Given the description of an element on the screen output the (x, y) to click on. 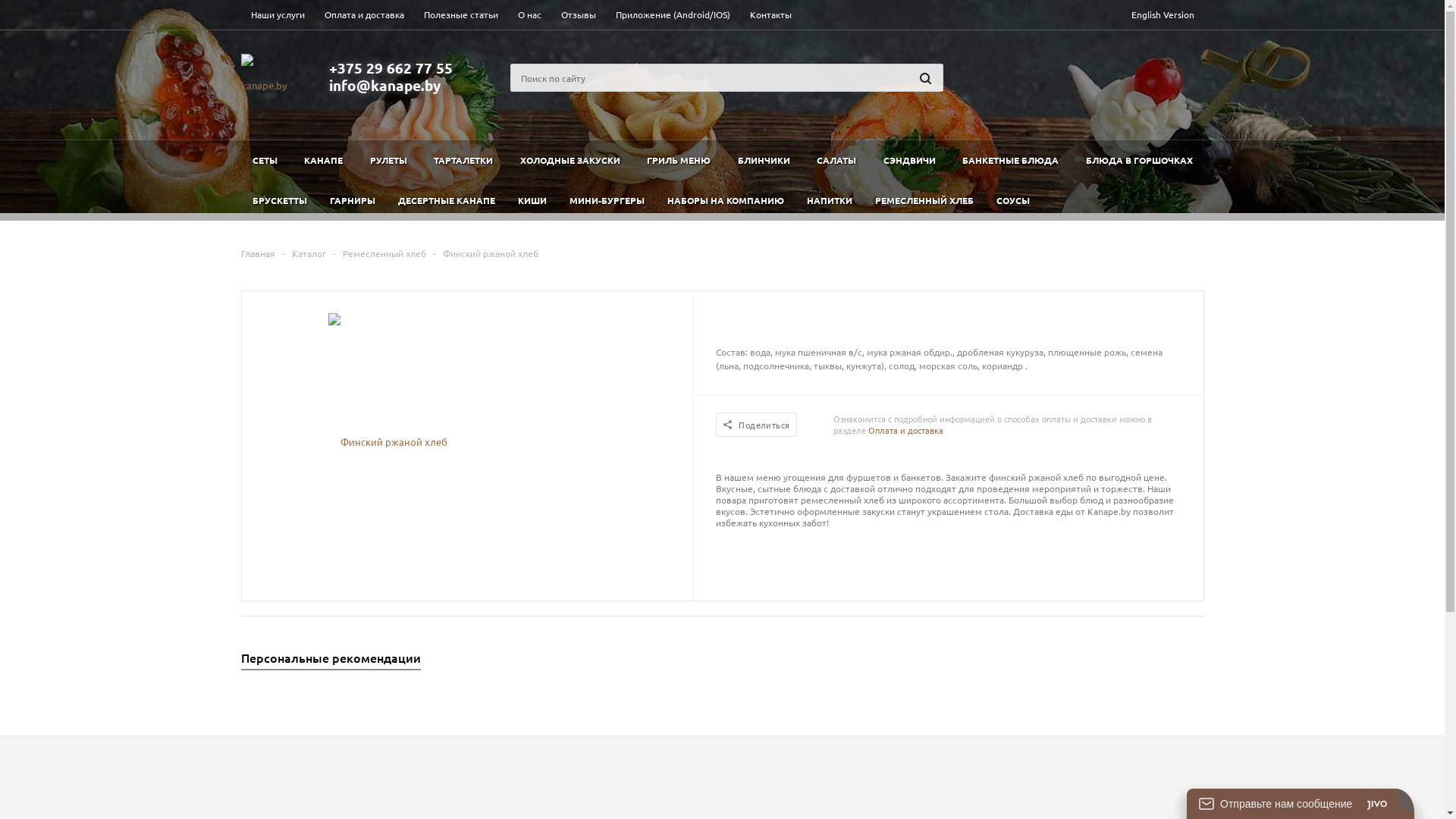
+375 29 662 77 55 Element type: text (390, 67)
kanape.by Element type: hover (263, 78)
info@kanape.by Element type: text (384, 84)
English Version Element type: text (1161, 15)
